Given the description of an element on the screen output the (x, y) to click on. 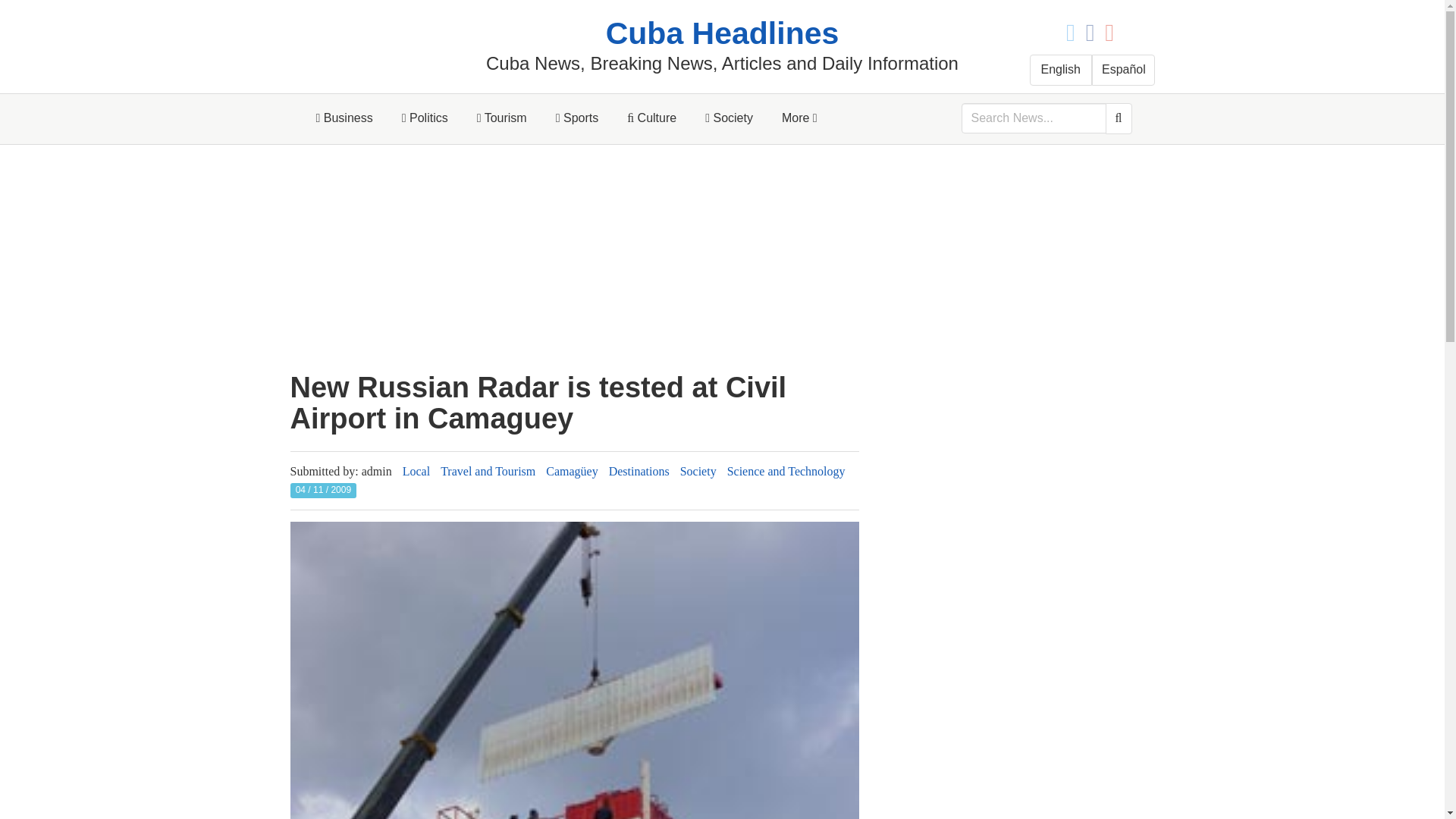
Travel and Tourism (488, 471)
Society (728, 118)
Society (697, 471)
Tourism (502, 118)
More (799, 118)
Business (343, 118)
Home (722, 32)
Sports (577, 118)
Cuba Headlines (722, 32)
Politics (424, 118)
